Given the description of an element on the screen output the (x, y) to click on. 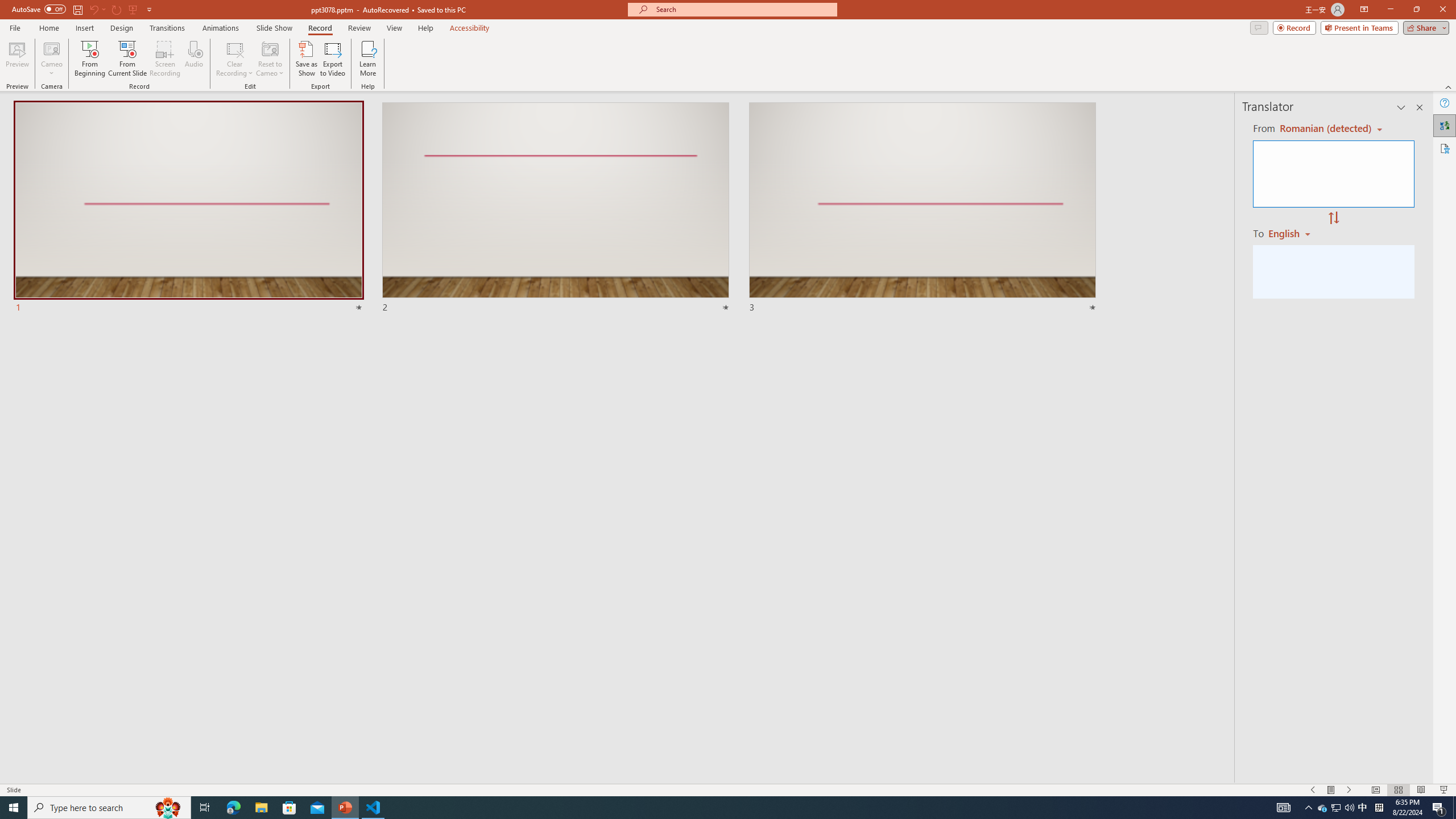
Slide Show Next On (1349, 790)
